Given the description of an element on the screen output the (x, y) to click on. 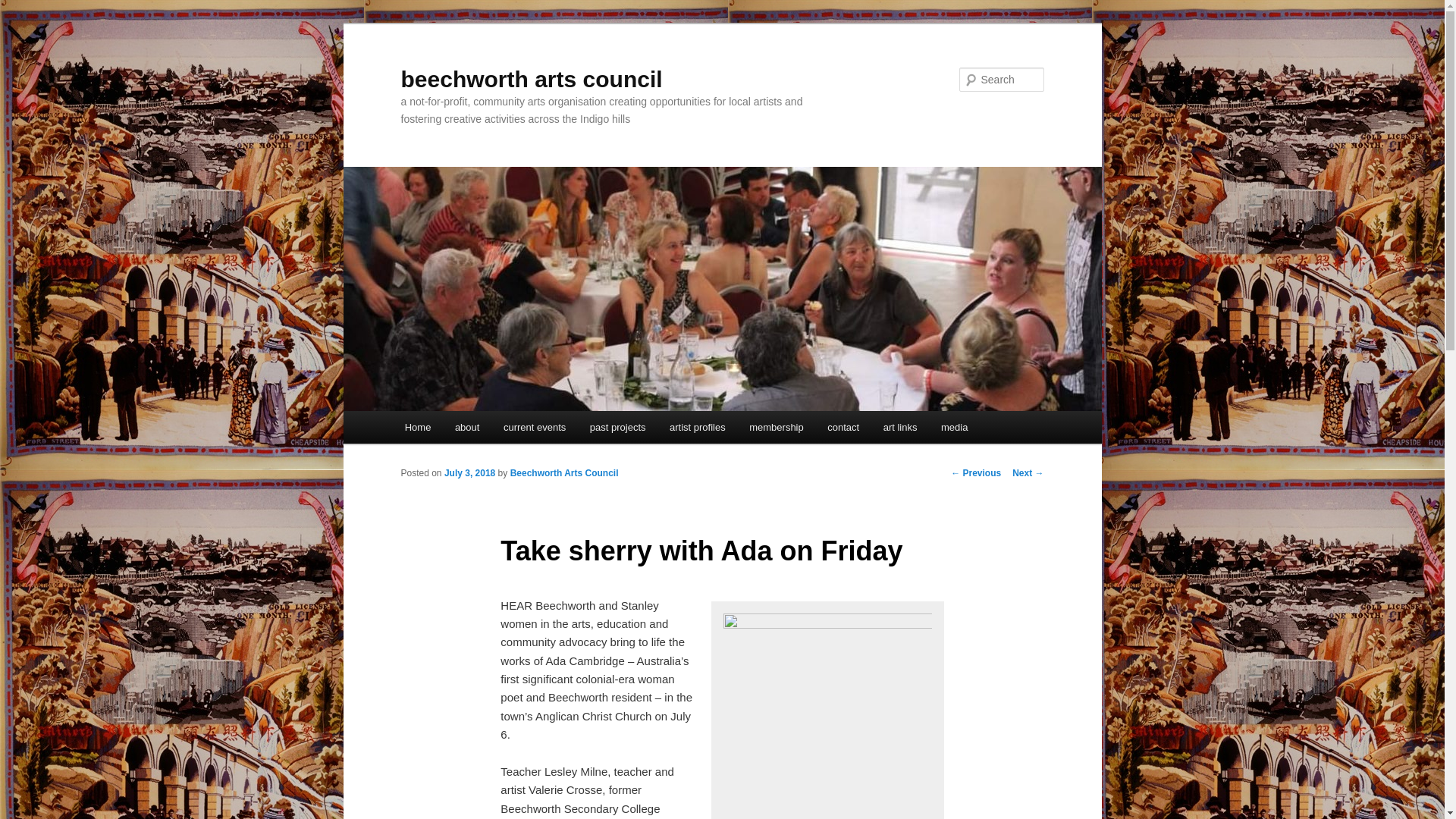
current events (535, 427)
View all posts by Beechworth Arts Council (564, 472)
Search (24, 8)
artist profiles (697, 427)
beechworth arts council (531, 78)
about (467, 427)
past projects (618, 427)
Home (417, 427)
9:34 am (469, 472)
